Given the description of an element on the screen output the (x, y) to click on. 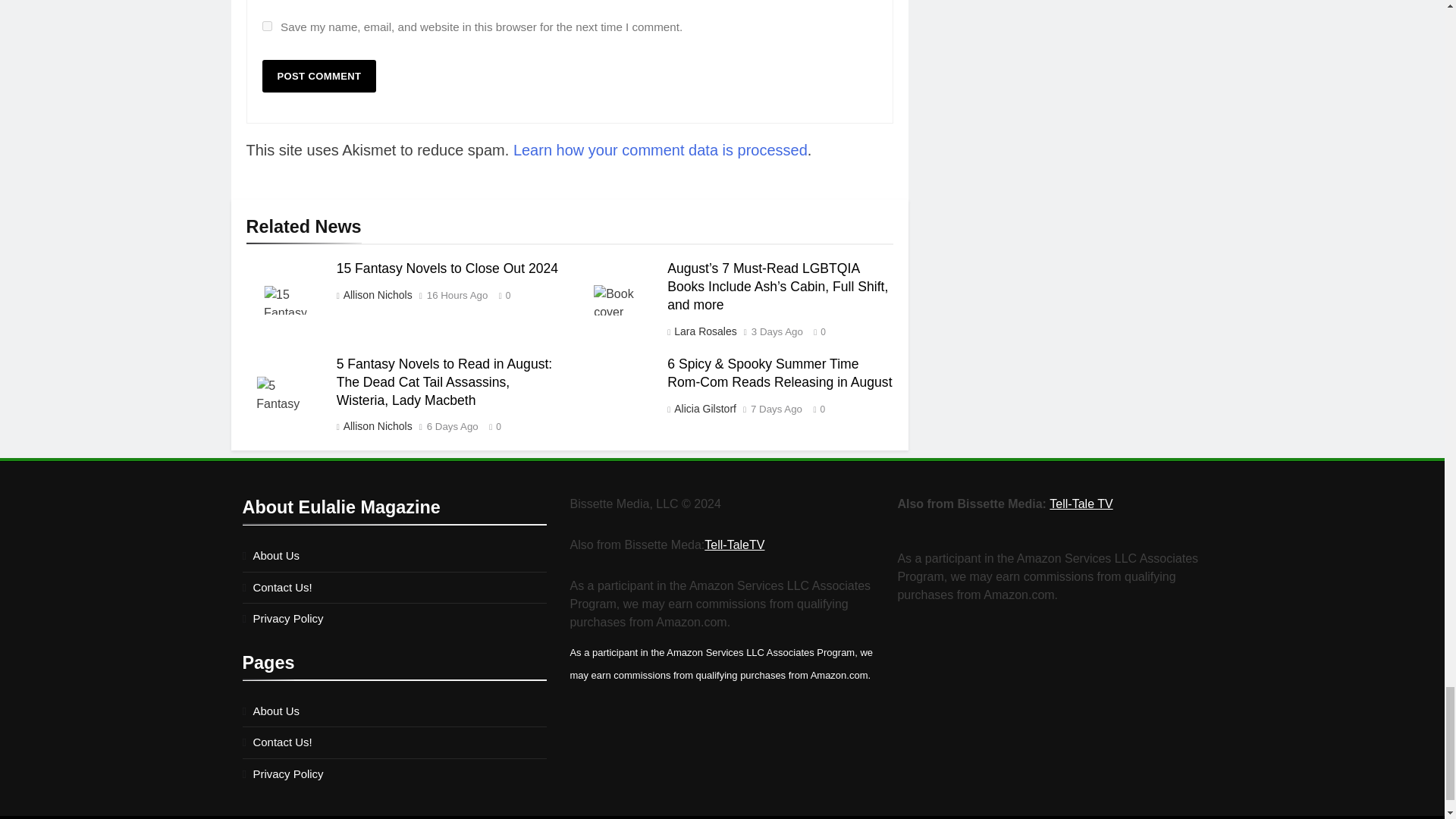
Post Comment (319, 75)
yes (267, 26)
